Given the description of an element on the screen output the (x, y) to click on. 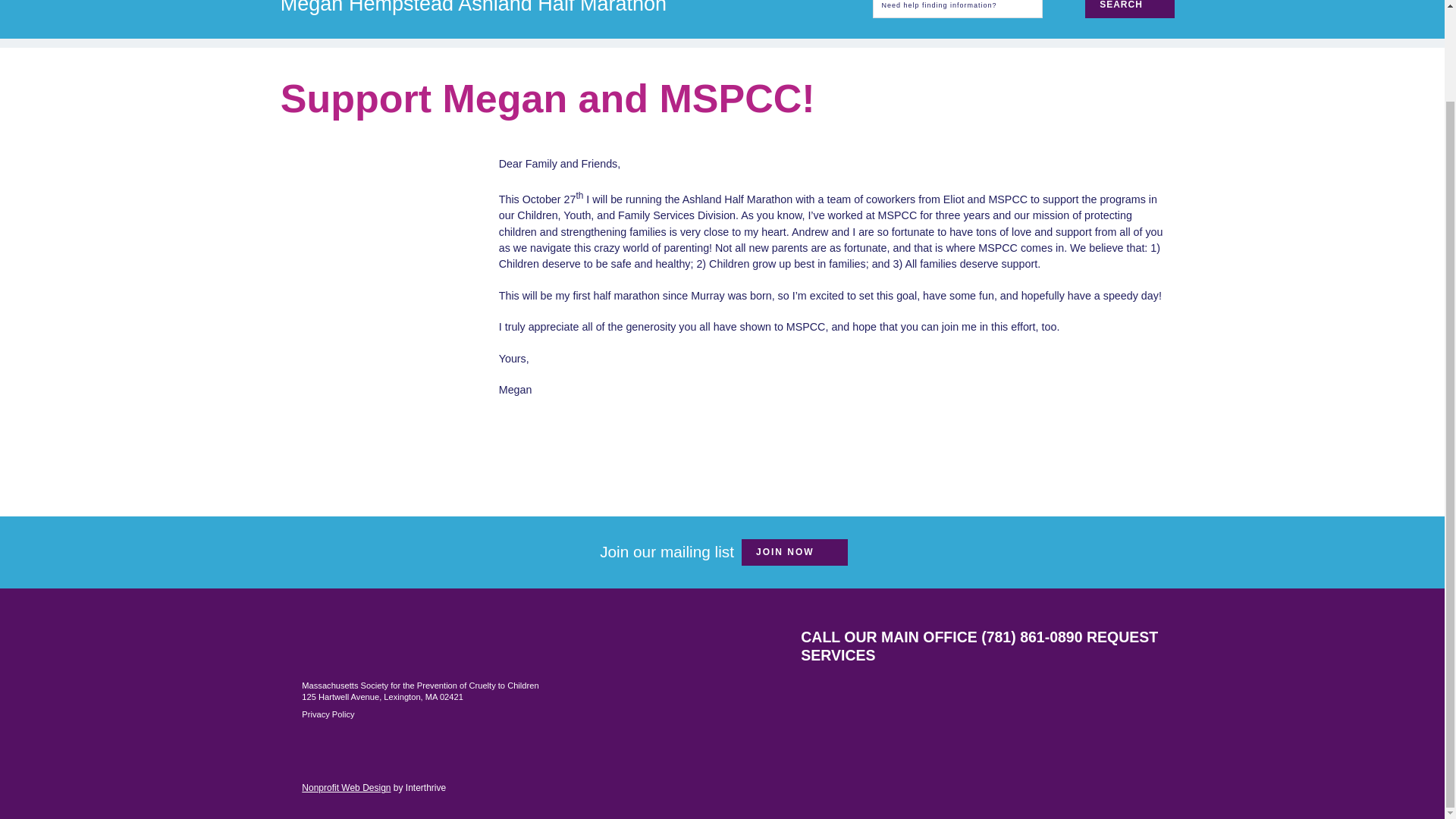
Nonprofit Website Design (345, 780)
Search (1128, 9)
United Way (834, 689)
